Given the description of an element on the screen output the (x, y) to click on. 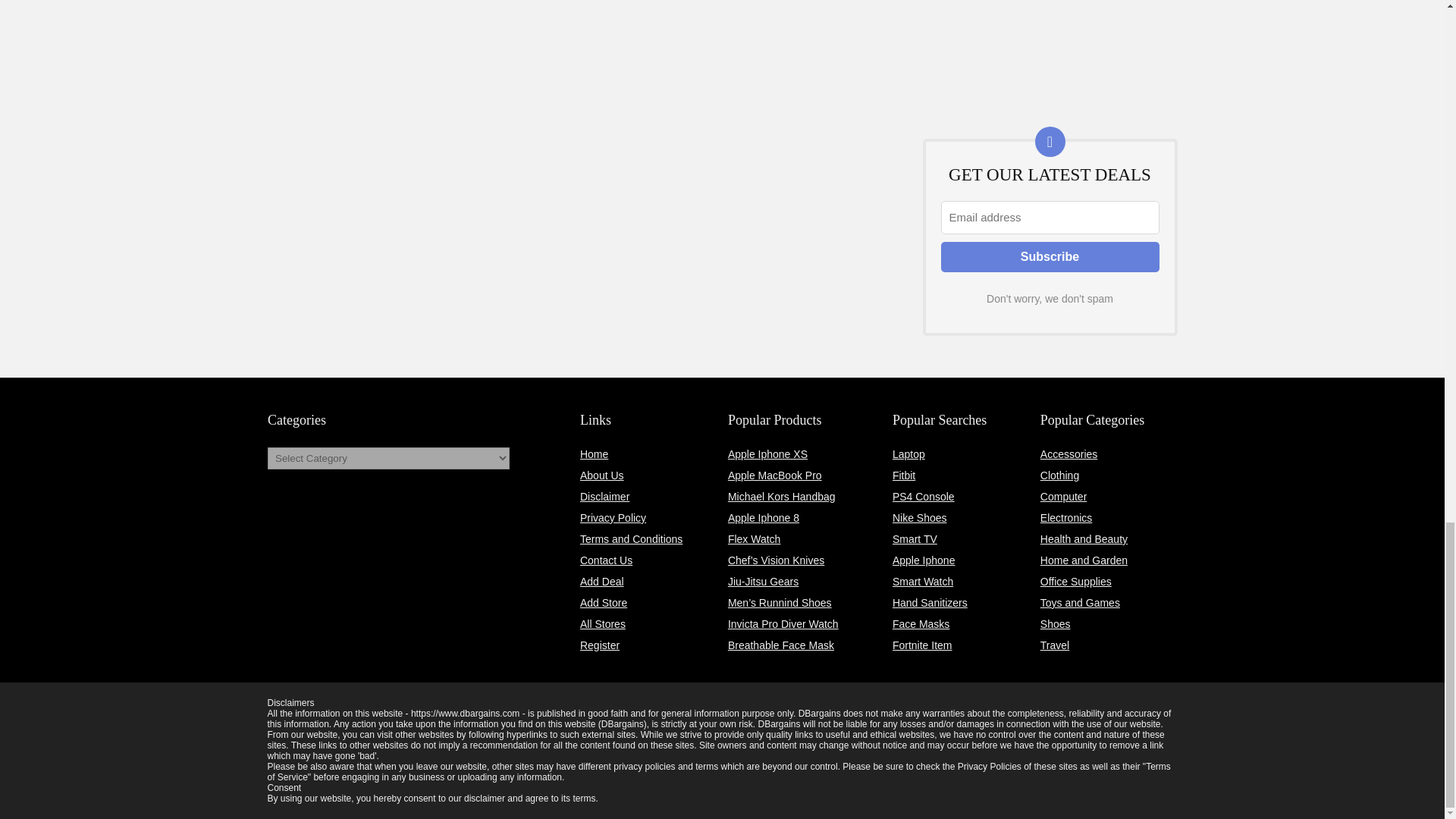
Subscribe (1049, 256)
